Given the description of an element on the screen output the (x, y) to click on. 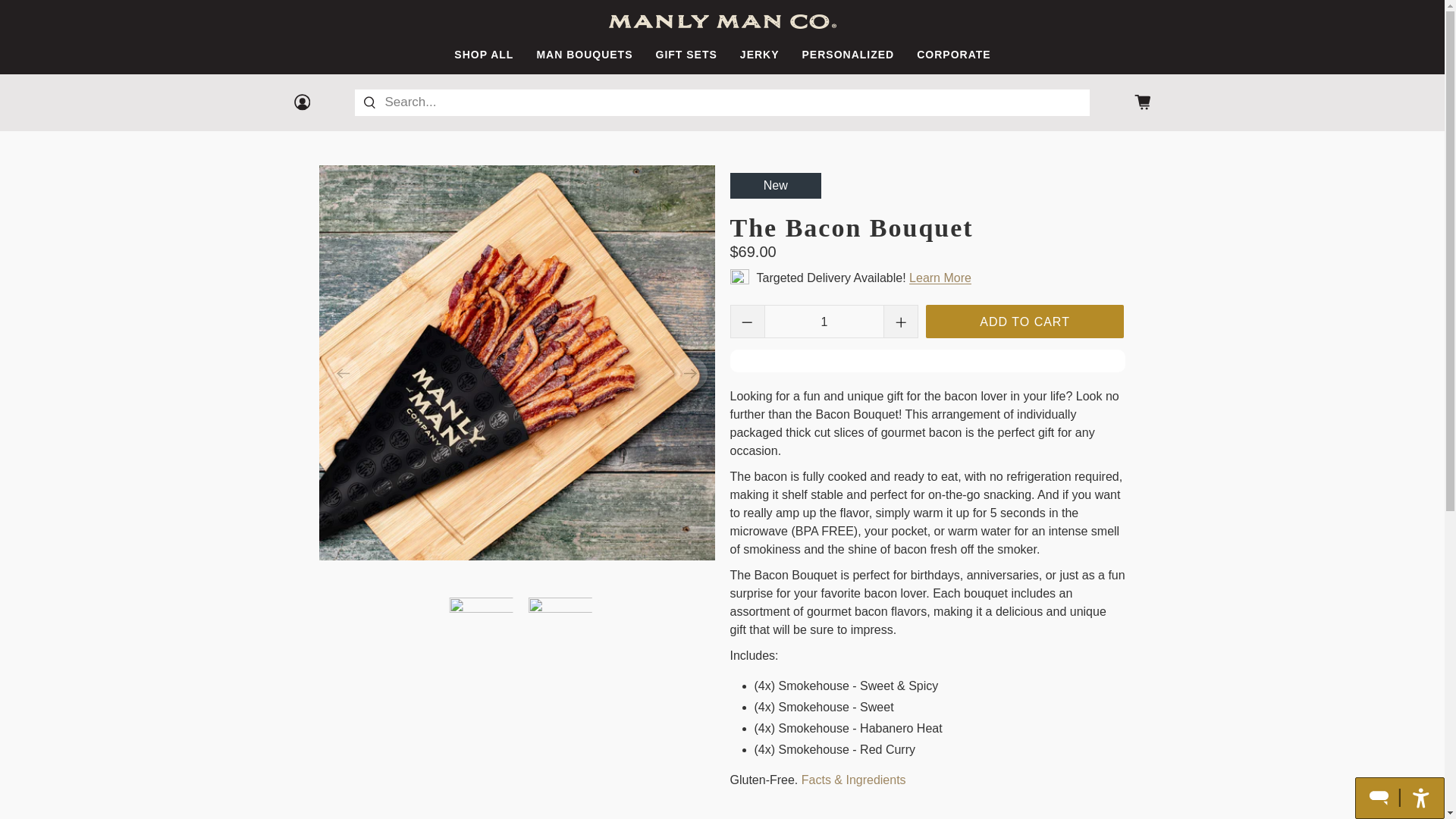
CORPORATE (953, 54)
SHOP ALL (483, 54)
GIFT SETS (685, 54)
1 (823, 322)
JERKY (758, 54)
ADD TO CART (1025, 321)
Shipping Policy (939, 277)
Manly Man Co. (721, 21)
PERSONALIZED (848, 54)
